Given the description of an element on the screen output the (x, y) to click on. 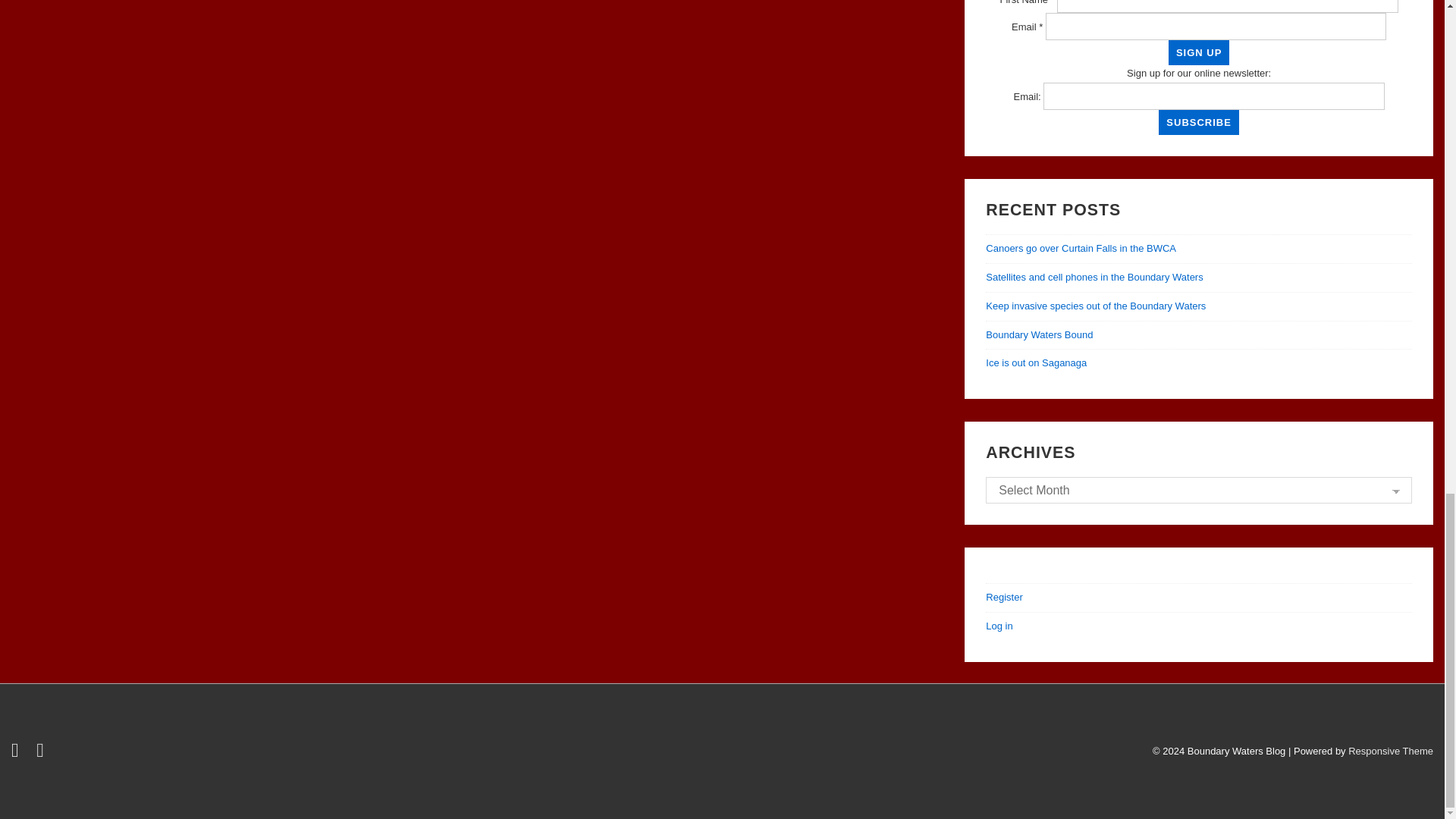
Subscribe (1198, 122)
Canoers go over Curtain Falls in the BWCA (1080, 247)
Sign Up (1198, 52)
Sign Up (1198, 52)
facebook (42, 753)
twitter (17, 753)
Subscribe (1198, 122)
